Given the description of an element on the screen output the (x, y) to click on. 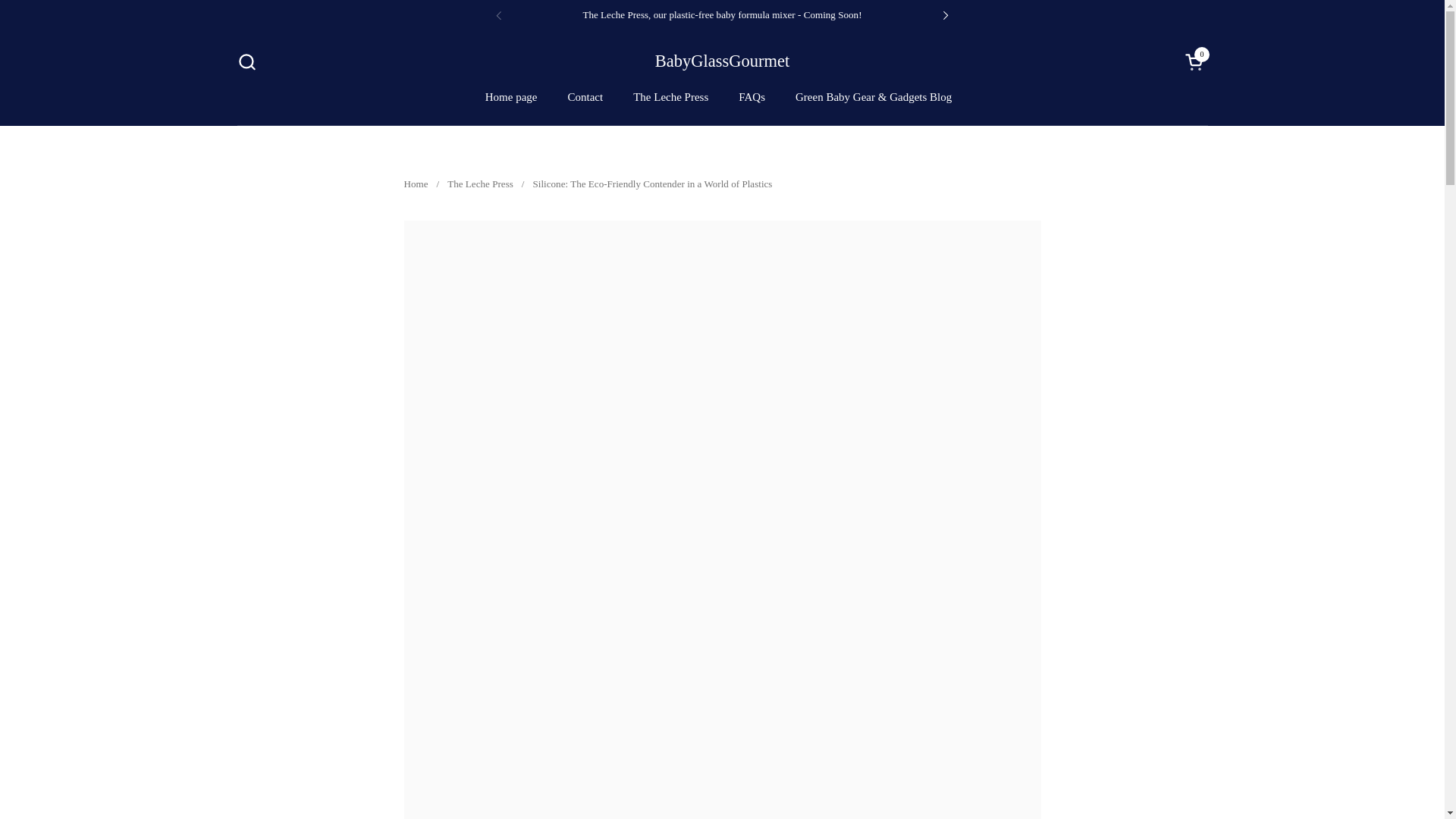
Open cart (1196, 60)
BabyGlassGourmet (722, 61)
Open search (245, 60)
Home (415, 184)
BabyGlassGourmet (1196, 60)
Skip to content (722, 61)
The Leche Press (751, 97)
The Leche Press (479, 184)
